Given the description of an element on the screen output the (x, y) to click on. 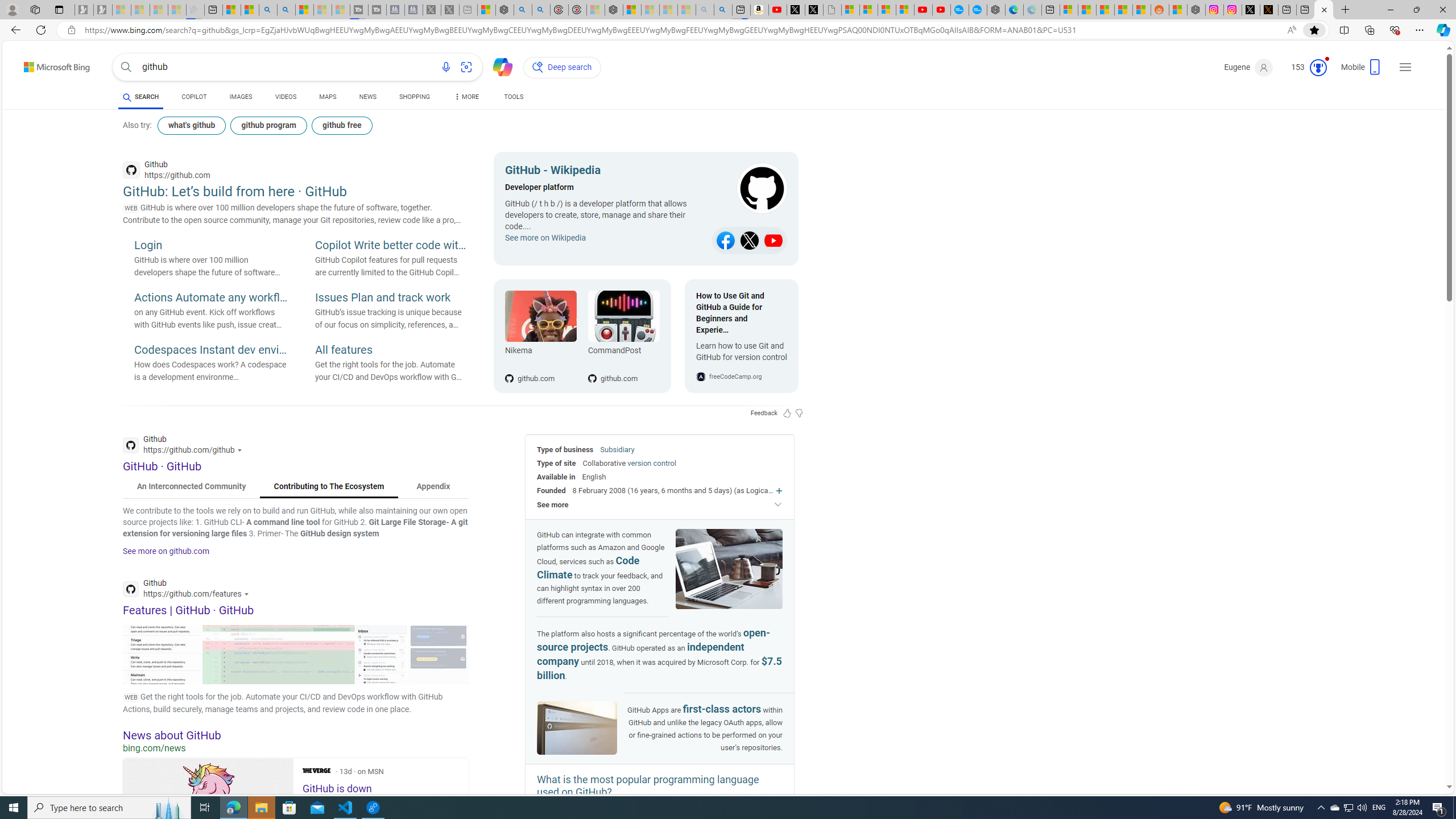
View details (437, 653)
The Verge on MSN.com (316, 770)
SEARCH (140, 96)
Shanghai, China Weather trends | Microsoft Weather (1142, 9)
Copilot Write better code with AI (391, 245)
